Given the description of an element on the screen output the (x, y) to click on. 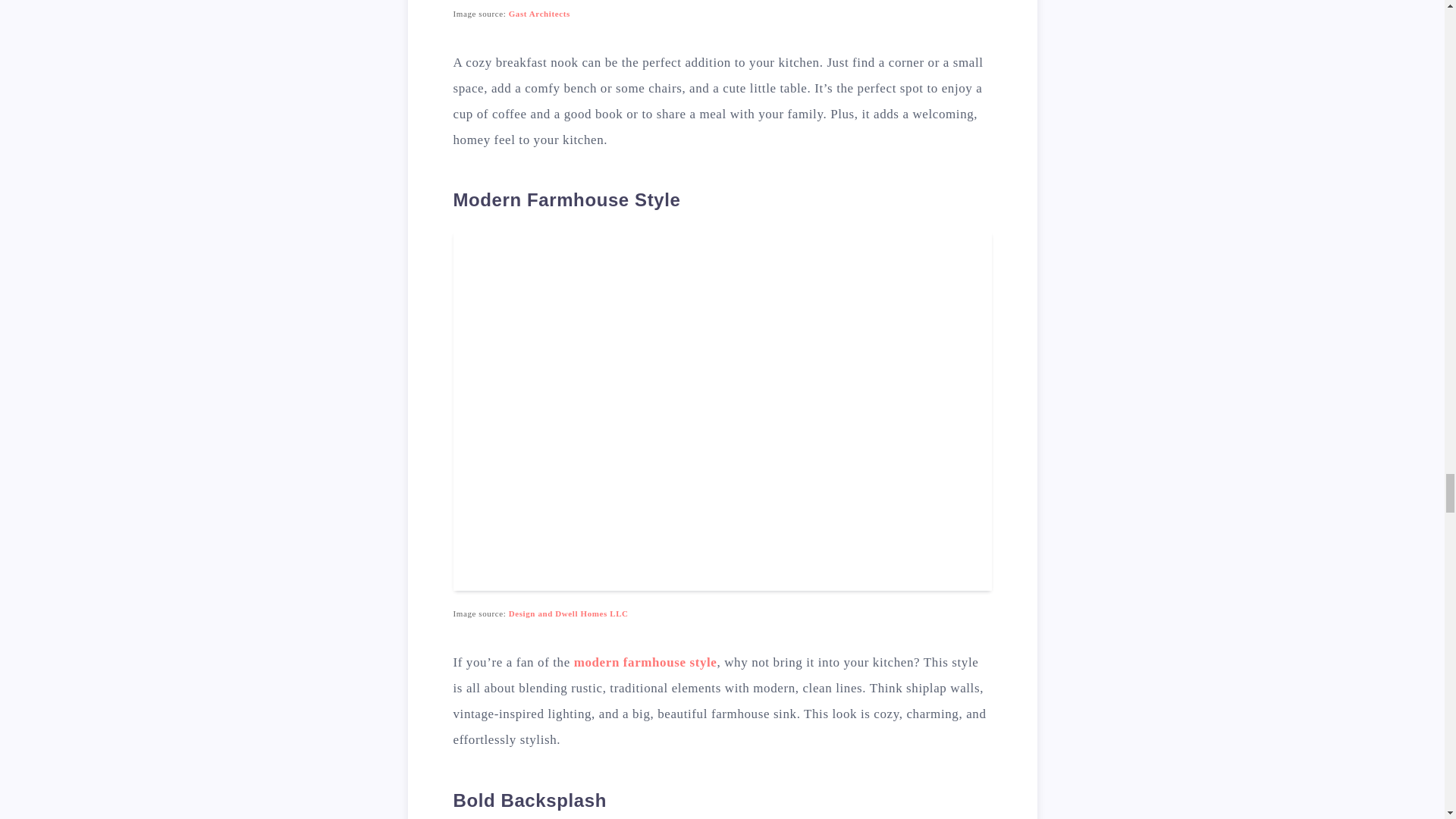
Gast Architects (539, 13)
Design and Dwell Homes LLC (568, 613)
